Given the description of an element on the screen output the (x, y) to click on. 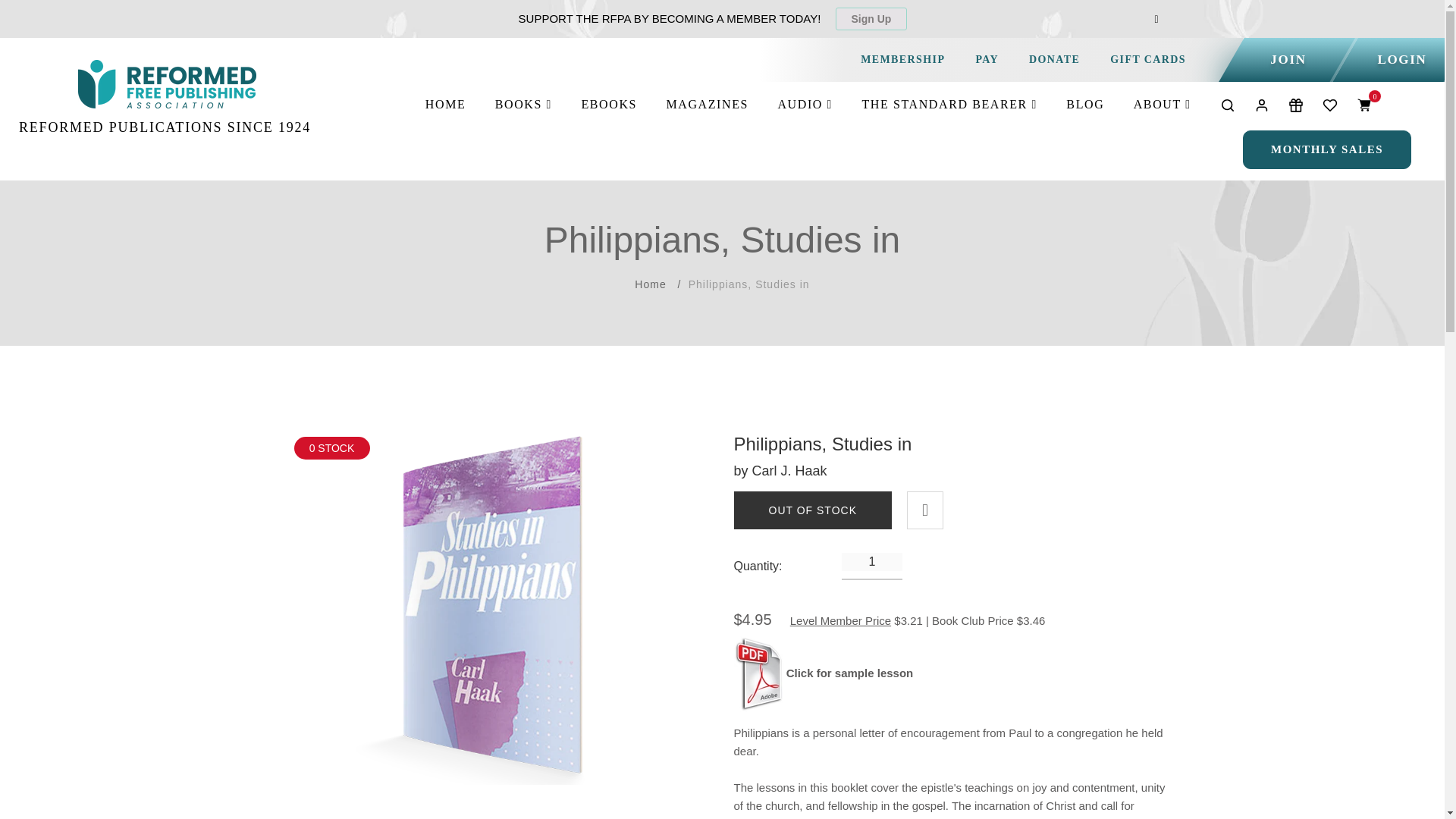
1 (871, 561)
Back to the home page (649, 284)
Sign Up (871, 18)
HOME (445, 104)
DONATE (1054, 59)
MEMBERSHIP (902, 59)
JOIN (1288, 59)
BOOKS (523, 104)
GIFT CARDS (1147, 59)
